Given the description of an element on the screen output the (x, y) to click on. 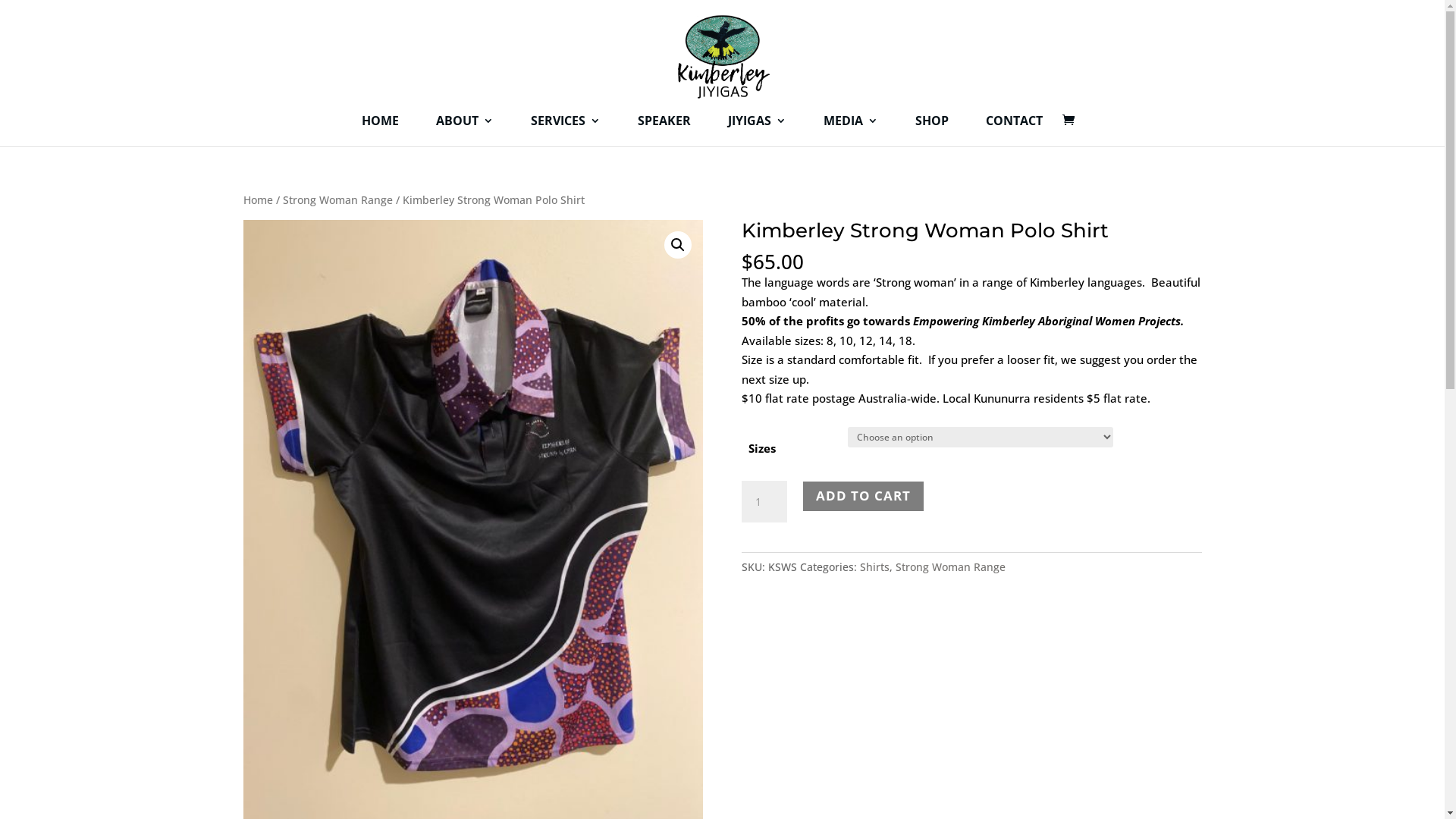
CONTACT Element type: text (1013, 130)
Strong Woman Range Element type: text (337, 199)
SERVICES Element type: text (565, 130)
HOME Element type: text (379, 130)
SPEAKER Element type: text (663, 130)
Shirts Element type: text (874, 566)
ABOUT Element type: text (463, 130)
Strong Woman Range Element type: text (950, 566)
MEDIA Element type: text (850, 130)
Home Element type: text (257, 199)
ADD TO CART Element type: text (863, 495)
SHOP Element type: text (930, 130)
JIYIGAS Element type: text (757, 130)
